Given the description of an element on the screen output the (x, y) to click on. 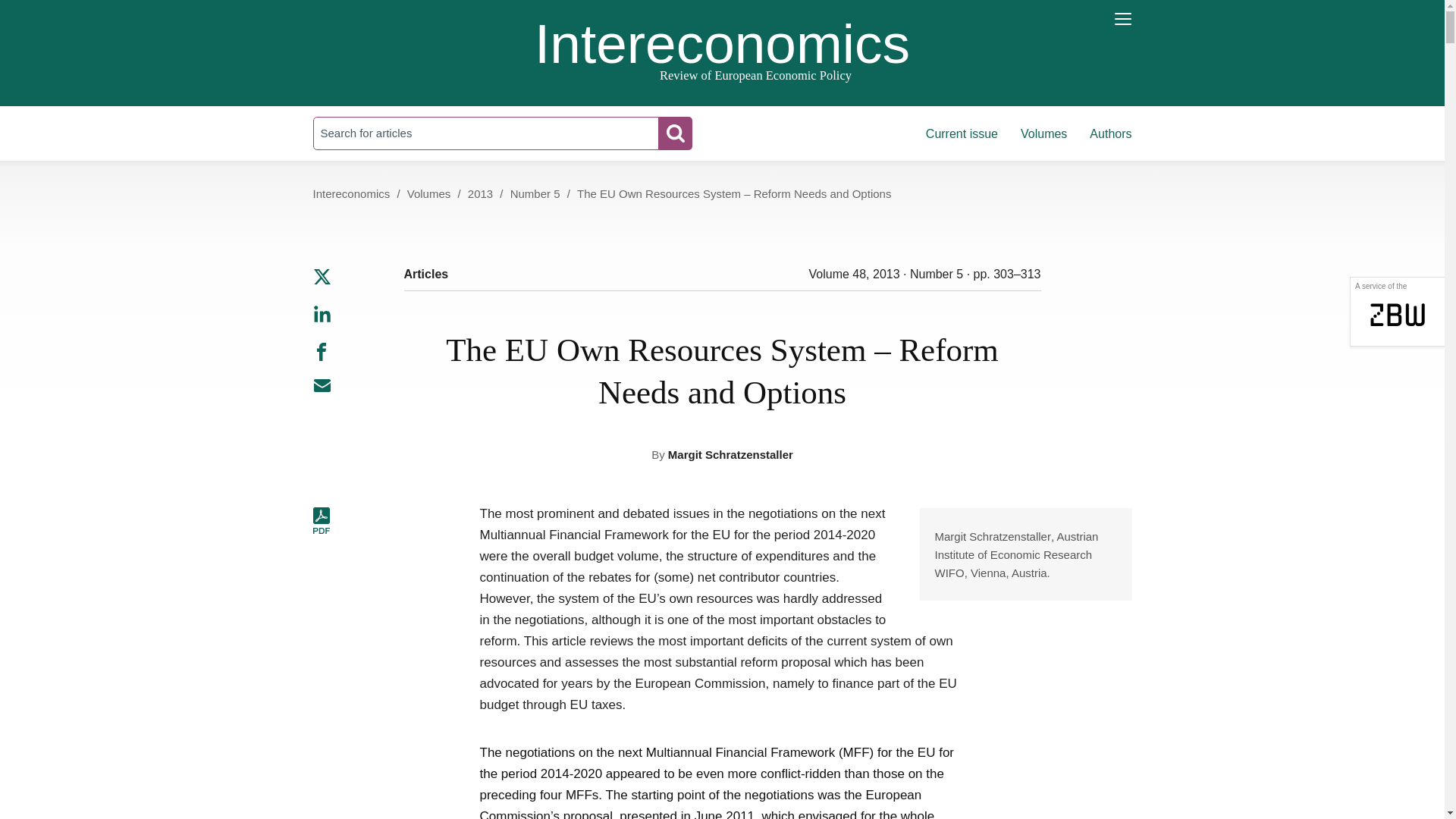
Share on Facebook (322, 351)
Download article as PDF (321, 520)
Share per e-mail (322, 391)
Current issue (961, 133)
Share on X (322, 282)
ZBW (1397, 306)
Suche starten (674, 133)
Share on Facebook (322, 356)
Volumes (1043, 133)
Share on Facebook (322, 356)
Share per e-mail (322, 391)
Share on LinkedIn (322, 319)
Download article as PDF (321, 530)
2013 (480, 193)
Share on LinkedIn (322, 319)
